Given the description of an element on the screen output the (x, y) to click on. 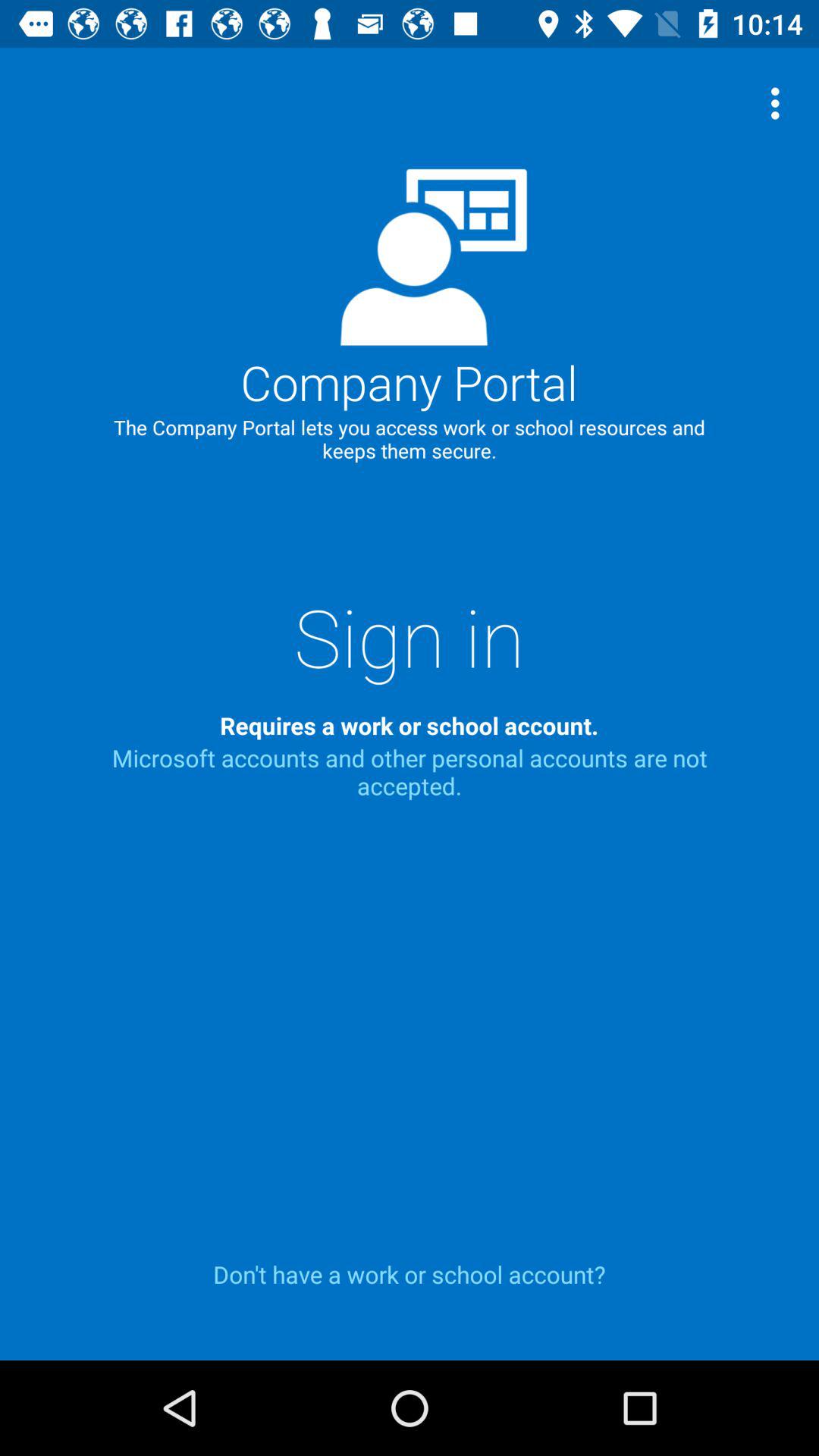
choose item above the requires a work (409, 636)
